Given the description of an element on the screen output the (x, y) to click on. 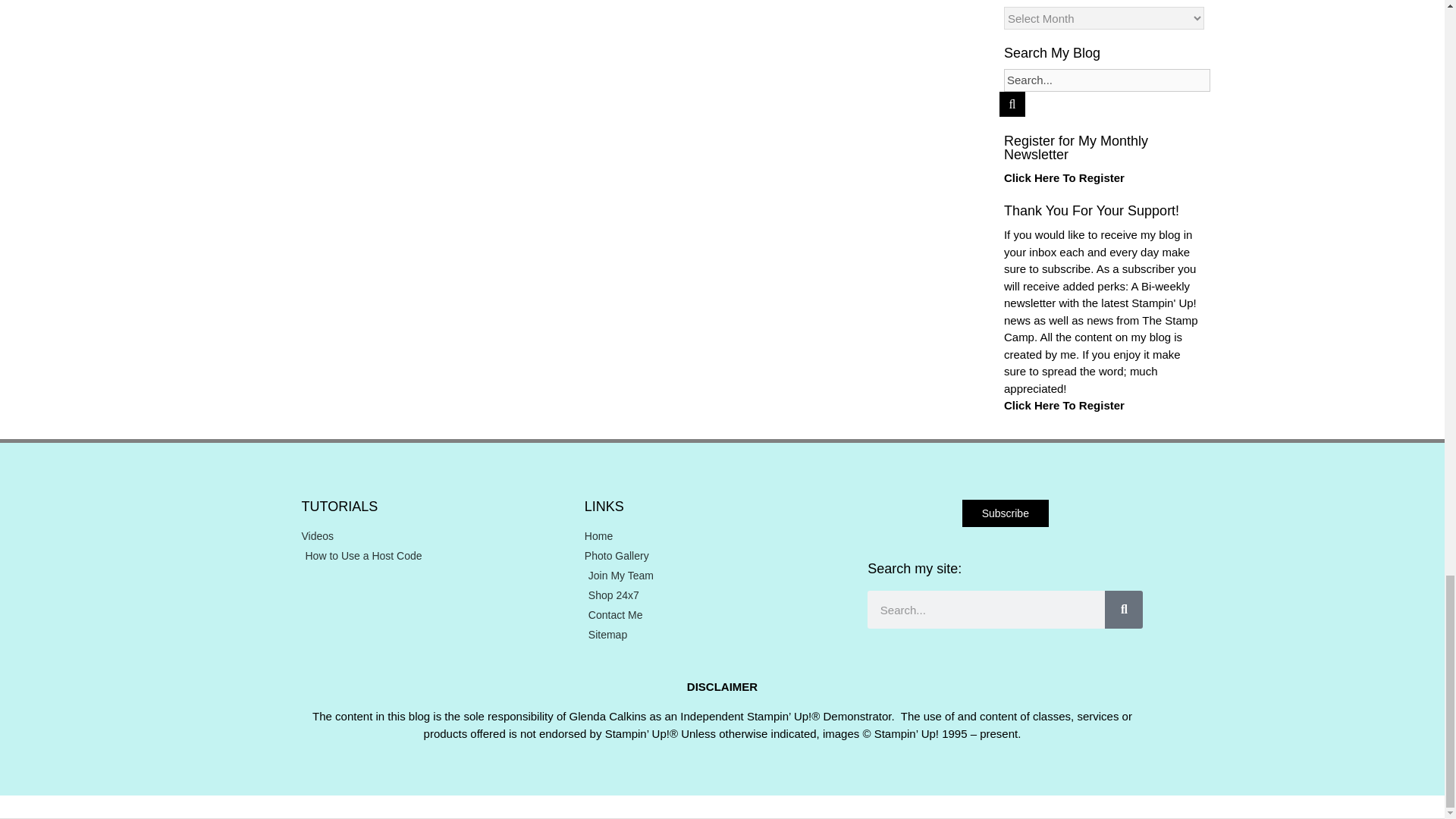
Search for: (1106, 80)
